Given the description of an element on the screen output the (x, y) to click on. 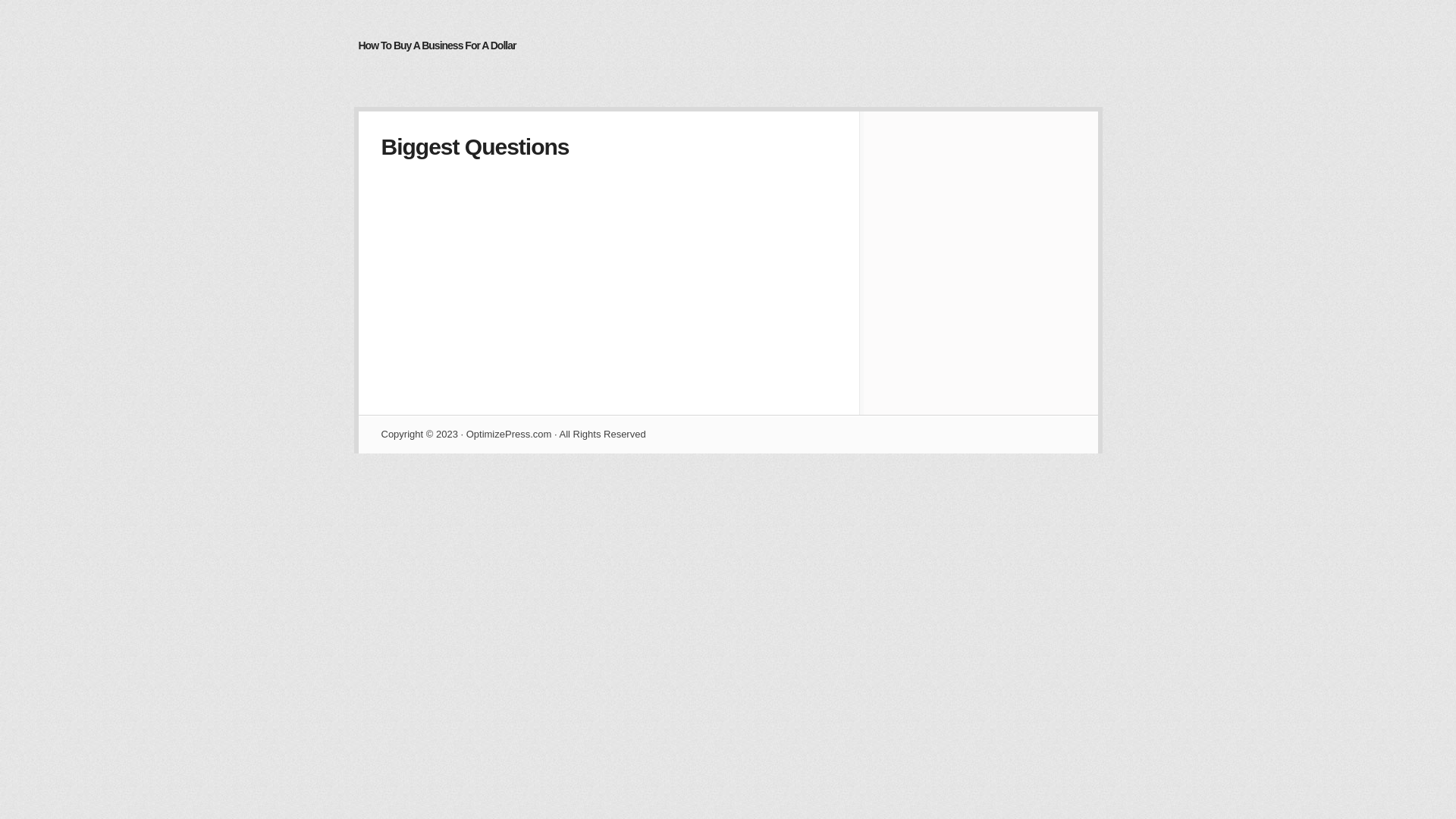
How To Buy A Business For A Dollar Element type: text (436, 45)
